Given the description of an element on the screen output the (x, y) to click on. 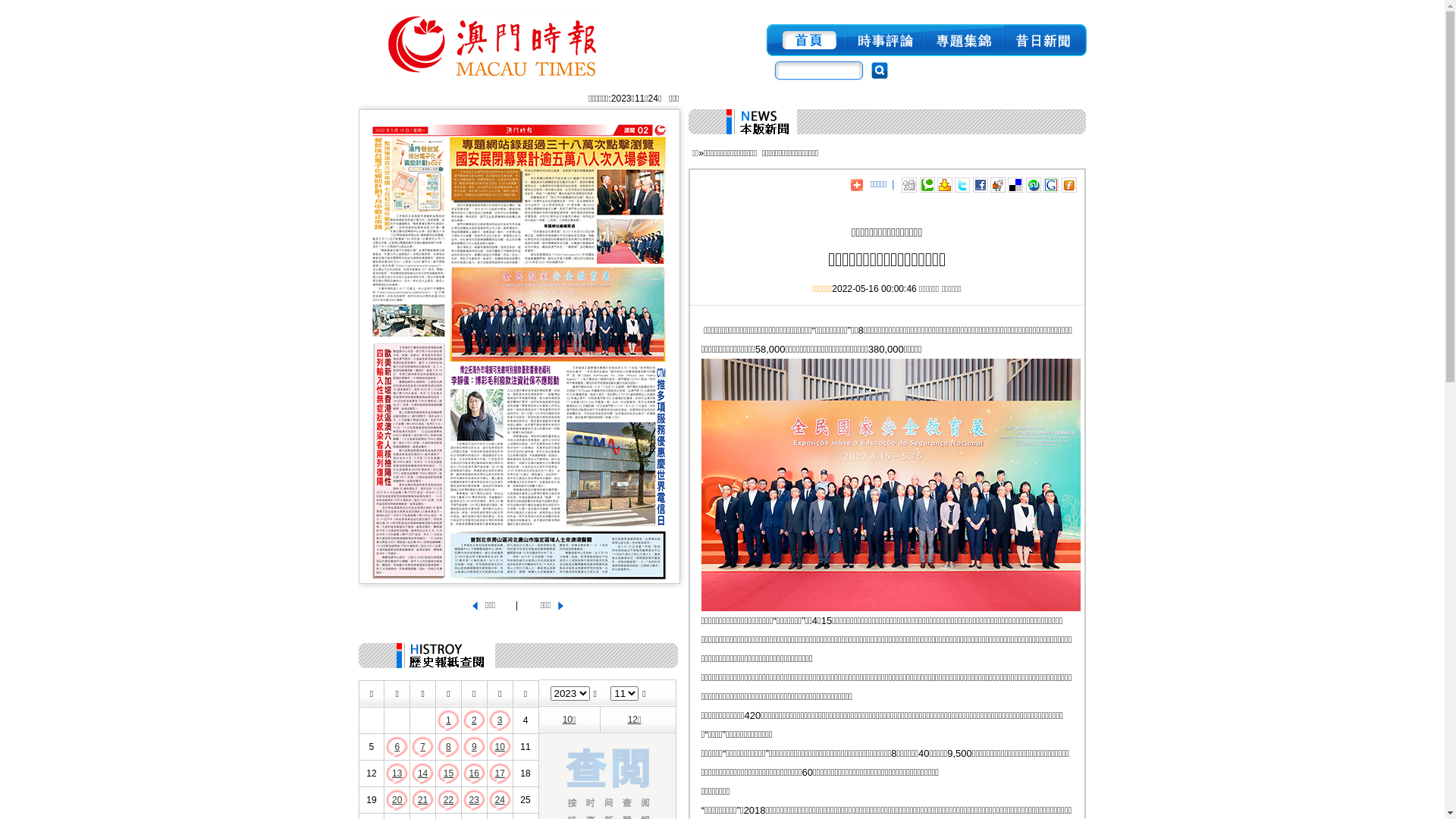
1 Element type: text (448, 720)
15 Element type: text (448, 773)
  Element type: text (1045, 40)
14 Element type: text (422, 773)
17 Element type: text (499, 773)
8 Element type: text (448, 746)
  Element type: text (964, 40)
16 Element type: text (474, 773)
13 Element type: text (396, 773)
23 Element type: text (474, 799)
20 Element type: text (396, 799)
6 Element type: text (396, 746)
10 Element type: text (499, 746)
  Element type: text (805, 40)
24 Element type: text (499, 799)
9 Element type: text (473, 746)
22 Element type: text (448, 799)
  Element type: text (885, 40)
7 Element type: text (422, 746)
3 Element type: text (499, 720)
2 Element type: text (473, 720)
21 Element type: text (422, 799)
